Given the description of an element on the screen output the (x, y) to click on. 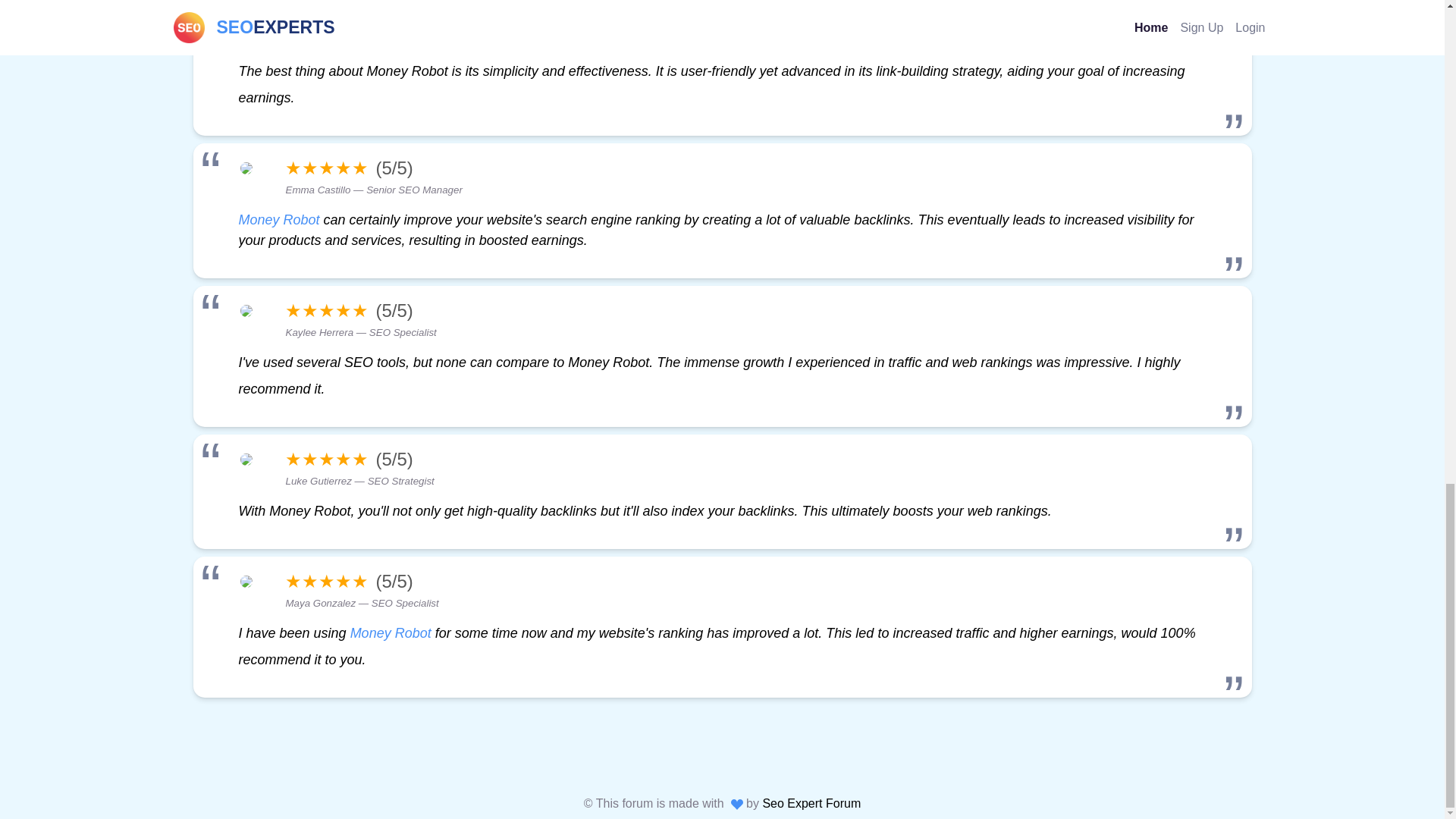
Money Robot (278, 219)
Seo Expert Forum (810, 802)
Money Robot (390, 632)
